Given the description of an element on the screen output the (x, y) to click on. 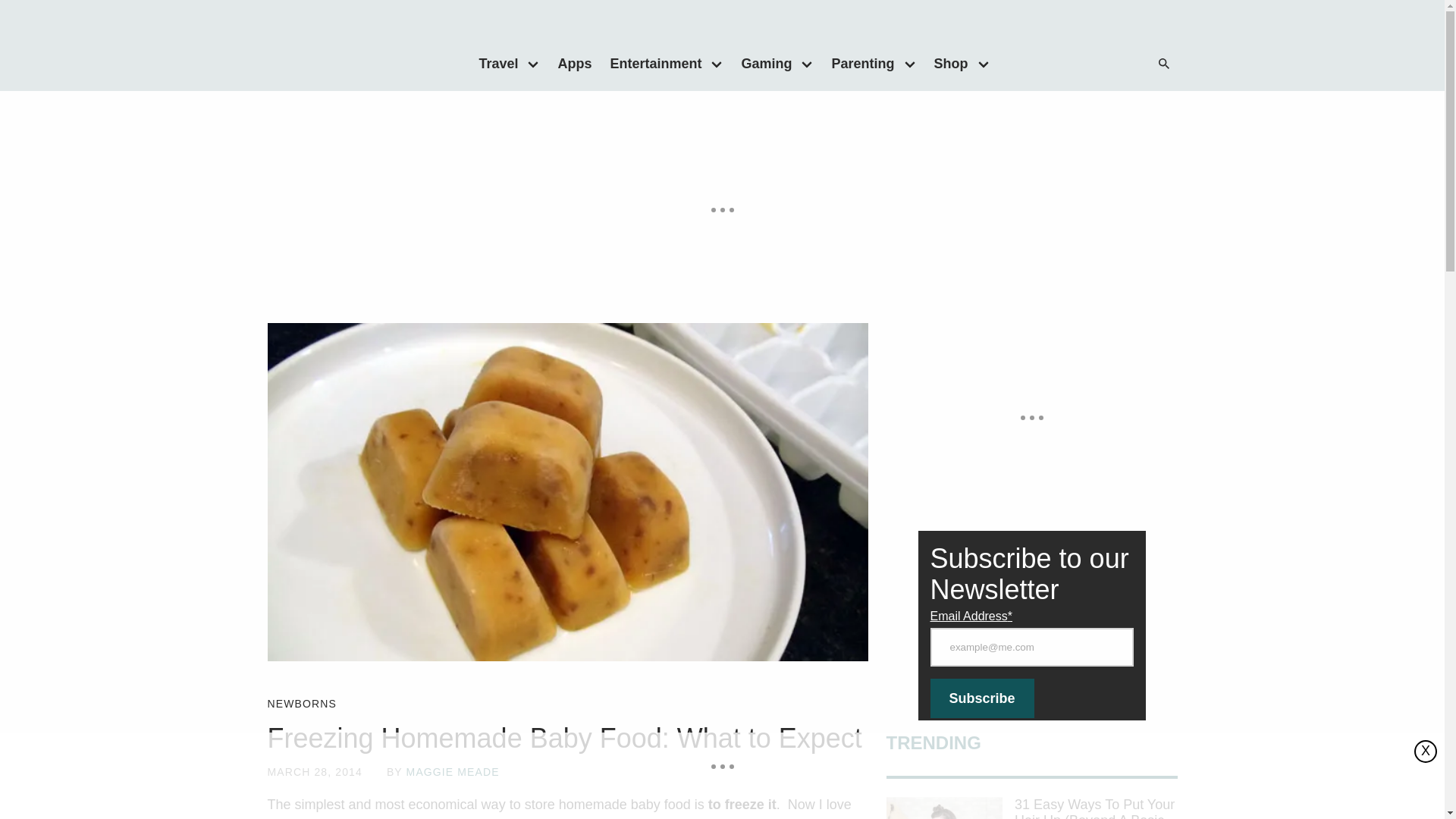
Twitter (1079, 63)
Instagram (1109, 63)
NEWBORNS (301, 703)
Entertainment (650, 63)
Open menu (533, 63)
Gaming (762, 63)
Parenting (857, 63)
MAGGIE MEADE (452, 771)
Open menu (982, 63)
Apps (573, 63)
